Given the description of an element on the screen output the (x, y) to click on. 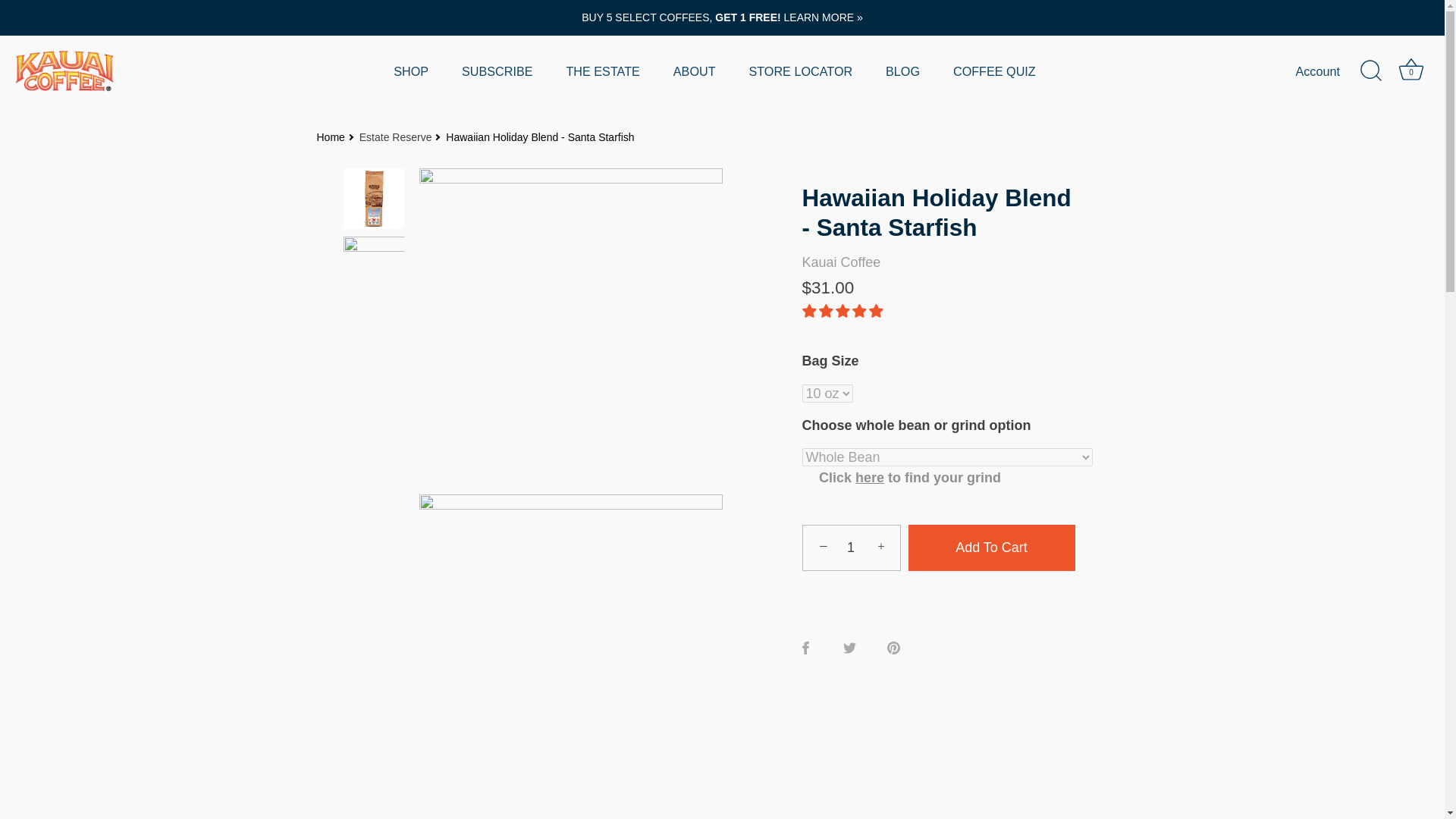
THE ESTATE (602, 70)
1 (850, 547)
ABOUT (694, 70)
SHOP (411, 70)
SUBSCRIBE (496, 70)
Basket (1410, 69)
